Given the description of an element on the screen output the (x, y) to click on. 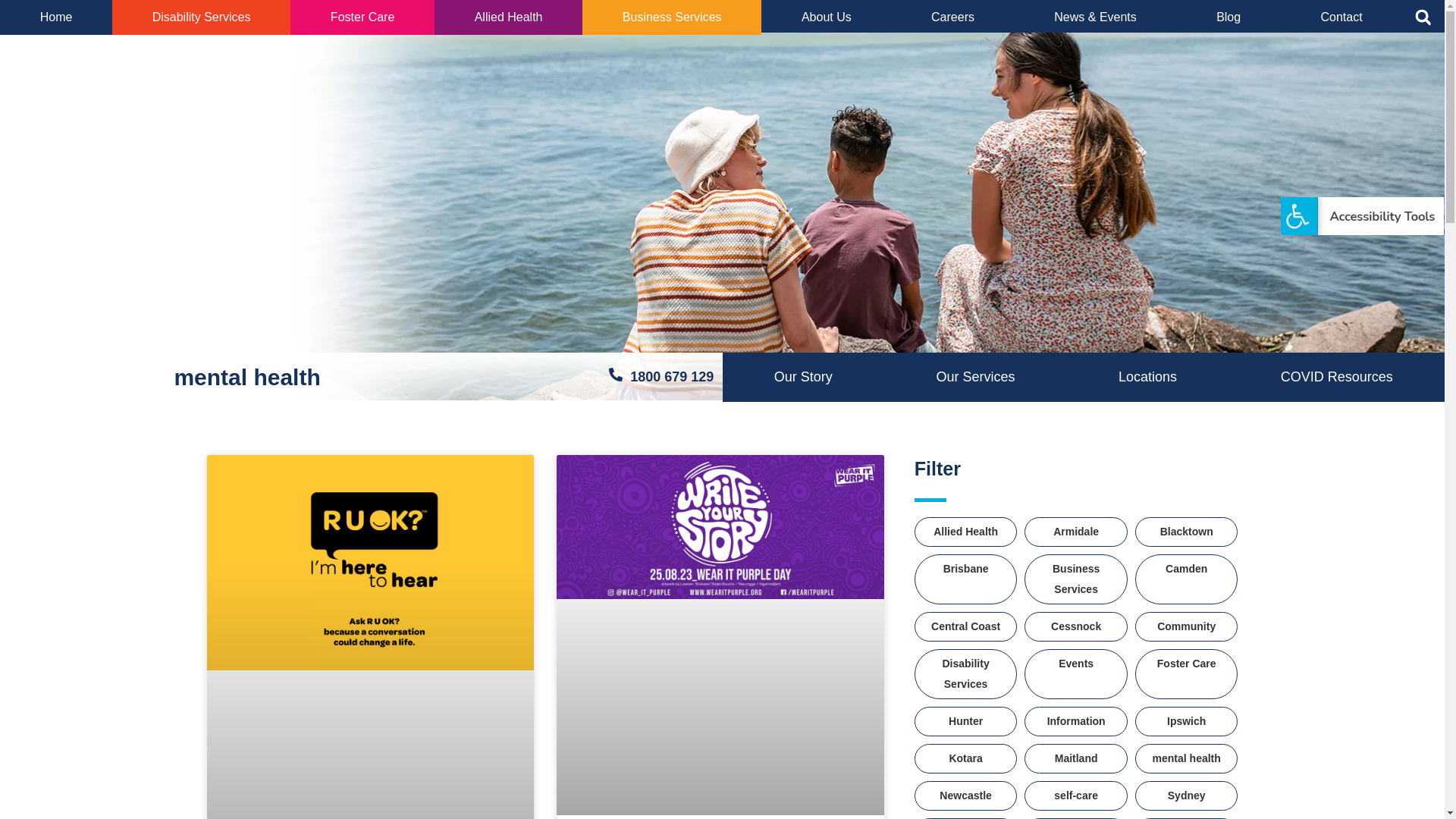
Central Coast Element type: text (965, 626)
Home Element type: text (56, 17)
Careers Element type: text (952, 17)
Hunter Element type: text (965, 721)
Allied Health Element type: text (508, 17)
Events Element type: text (1075, 663)
Foster Care Element type: text (362, 17)
mental health Element type: text (1186, 758)
Our Story Element type: text (802, 376)
Information Element type: text (1075, 721)
About Us Element type: text (826, 17)
Business Services Element type: text (1075, 579)
Ipswich Element type: text (1186, 721)
Kotara Element type: text (965, 758)
Sydney Element type: text (1186, 795)
Allied Health Element type: text (965, 531)
Camden Element type: text (1186, 569)
1800 679 129 Element type: text (660, 377)
Maitland Element type: text (1075, 758)
Community Element type: text (1186, 626)
Locations Element type: text (1147, 376)
Newcastle Element type: text (965, 795)
Blog Element type: text (1228, 17)
Contact Element type: text (1341, 17)
Blacktown Element type: text (1186, 531)
Disability Services Element type: text (201, 17)
self-care Element type: text (1075, 795)
Disability Services Element type: text (965, 673)
News & Events Element type: text (1095, 17)
Brisbane Element type: text (965, 569)
Foster Care Element type: text (1186, 663)
Our Services Element type: text (975, 376)
Armidale Element type: text (1075, 531)
Cessnock Element type: text (1075, 626)
COVID Resources Element type: text (1336, 376)
Business Services Element type: text (671, 17)
